Given the description of an element on the screen output the (x, y) to click on. 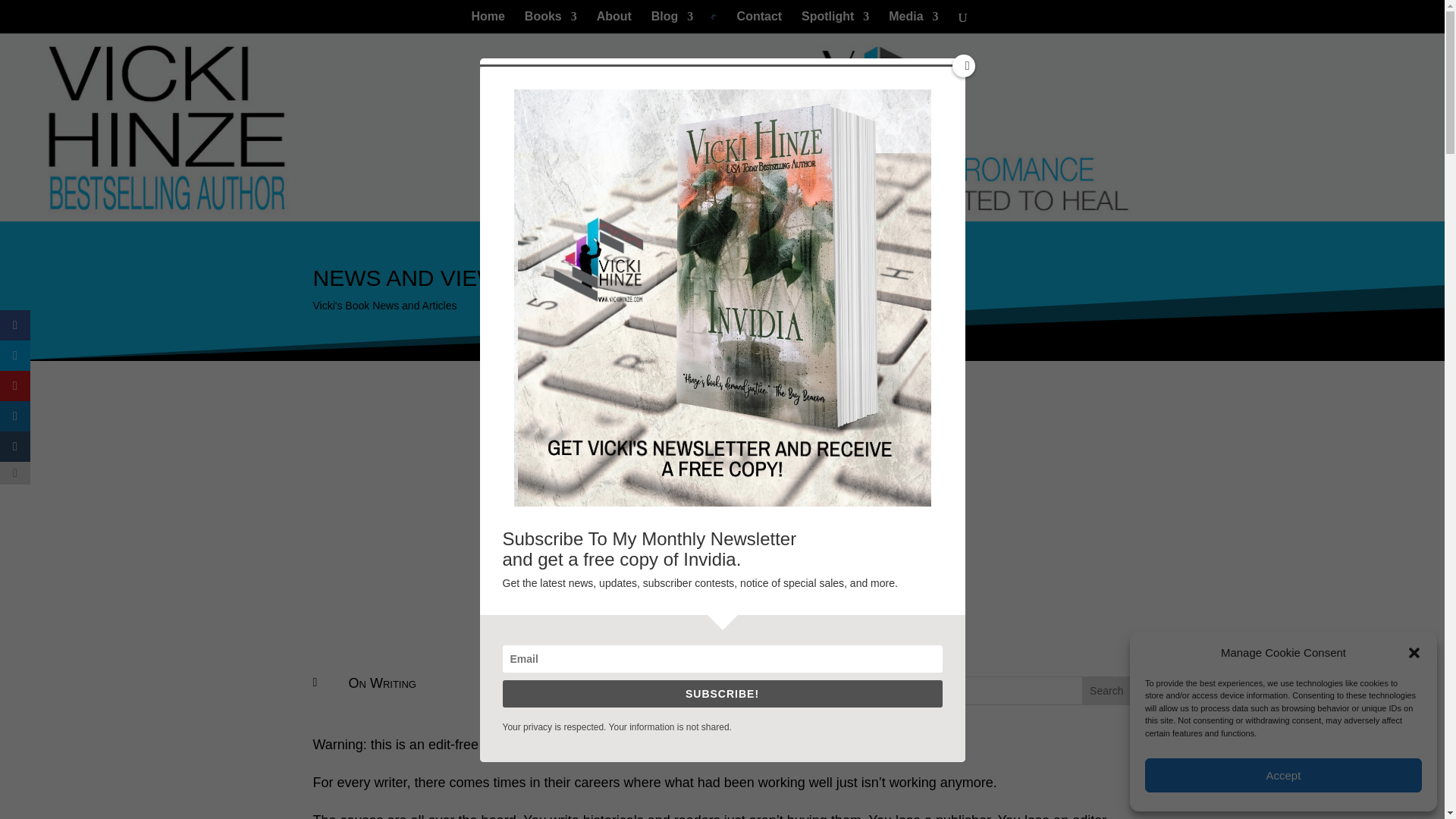
Spotlight (835, 22)
Contact (759, 22)
Books (550, 22)
Search (1106, 690)
Blog (672, 22)
Accept (1283, 775)
About (613, 22)
Search (1106, 690)
Media (912, 22)
Home (488, 22)
